Given the description of an element on the screen output the (x, y) to click on. 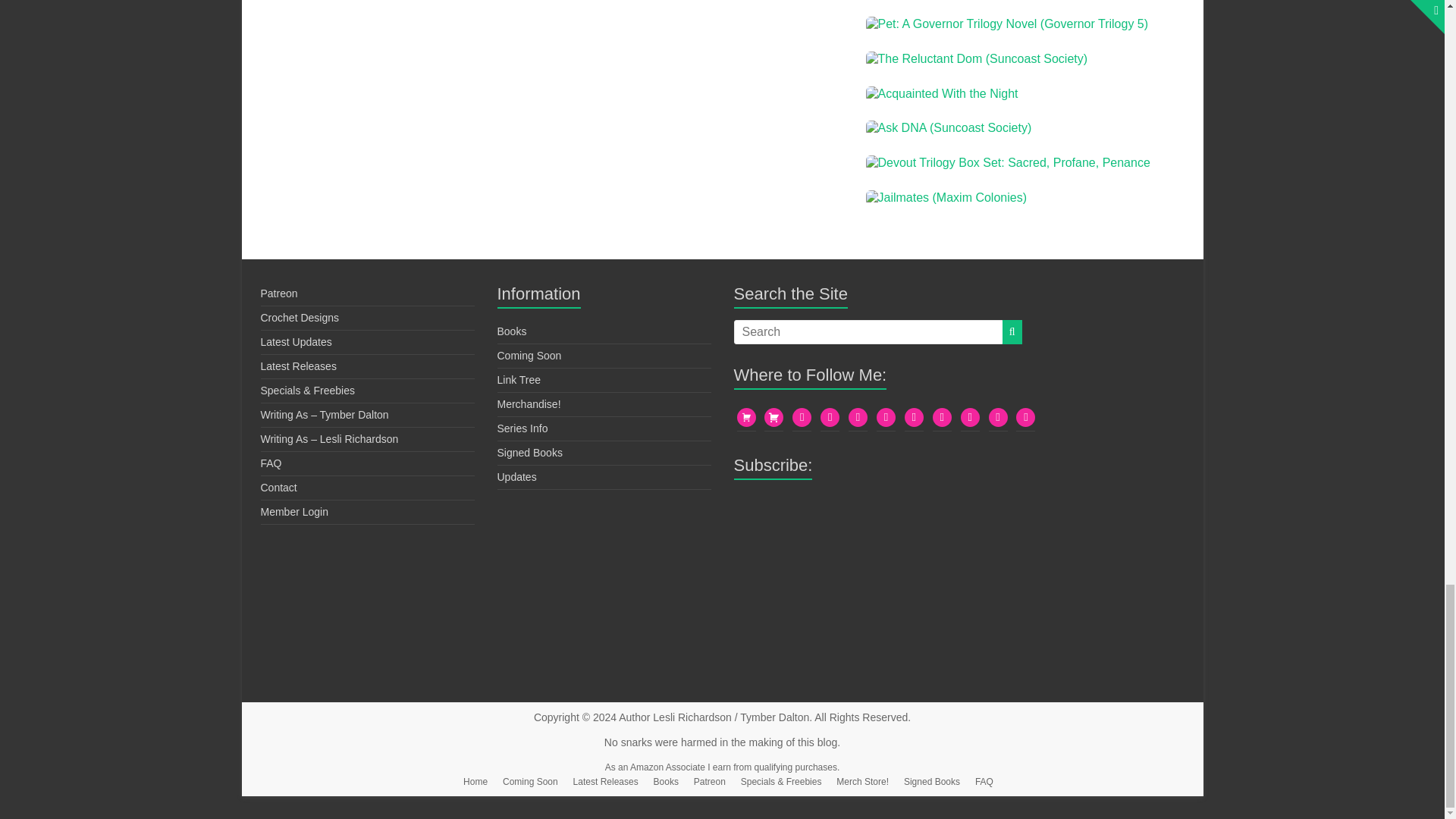
Default Label (885, 416)
Facebook (969, 416)
Default Label (913, 416)
Default Label (830, 416)
Default Label (1025, 416)
Instagram (942, 416)
Default Label (801, 416)
Twitter (857, 416)
Default Label (997, 416)
